Given the description of an element on the screen output the (x, y) to click on. 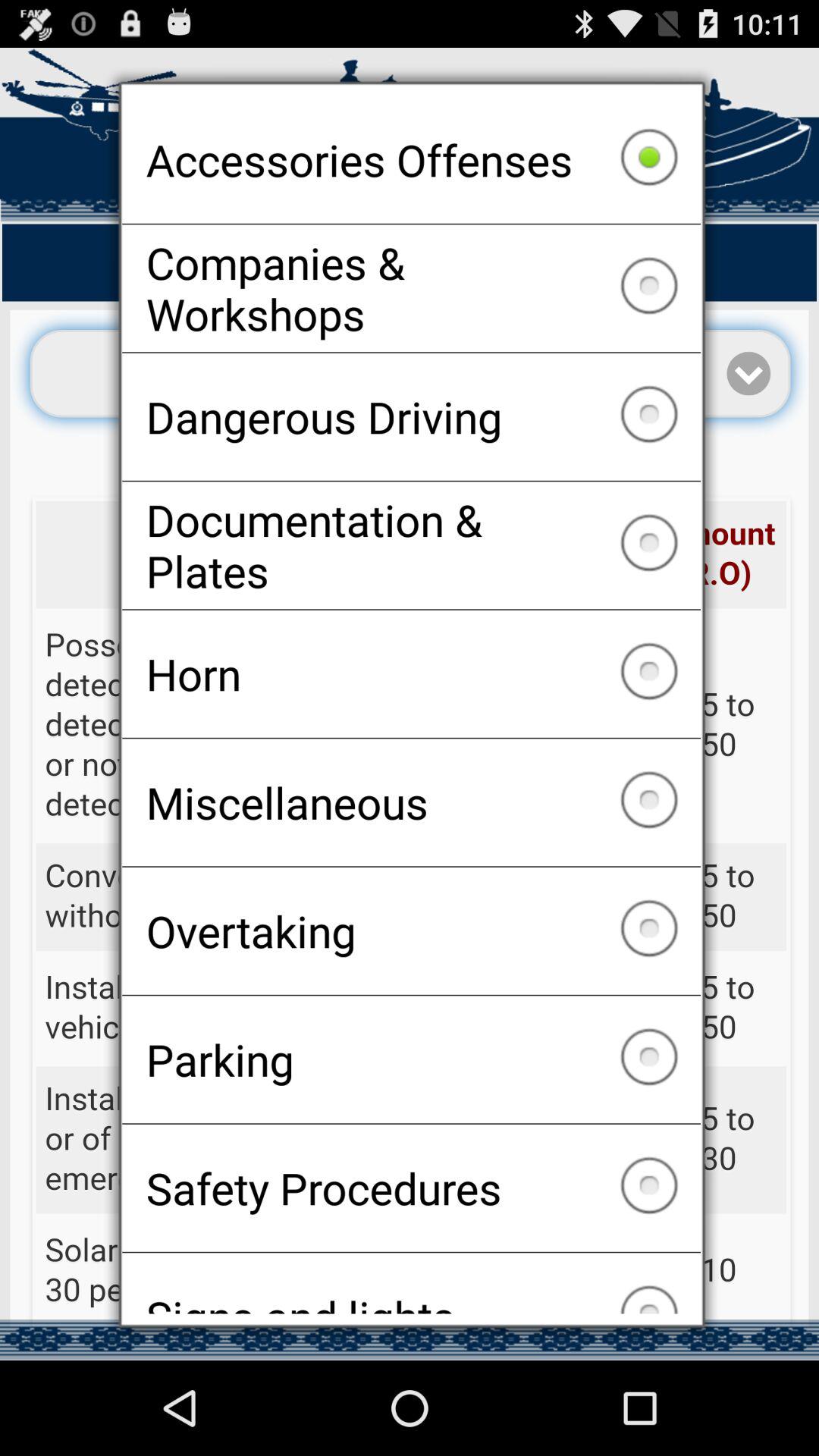
turn on the checkbox below safety procedures icon (411, 1282)
